Given the description of an element on the screen output the (x, y) to click on. 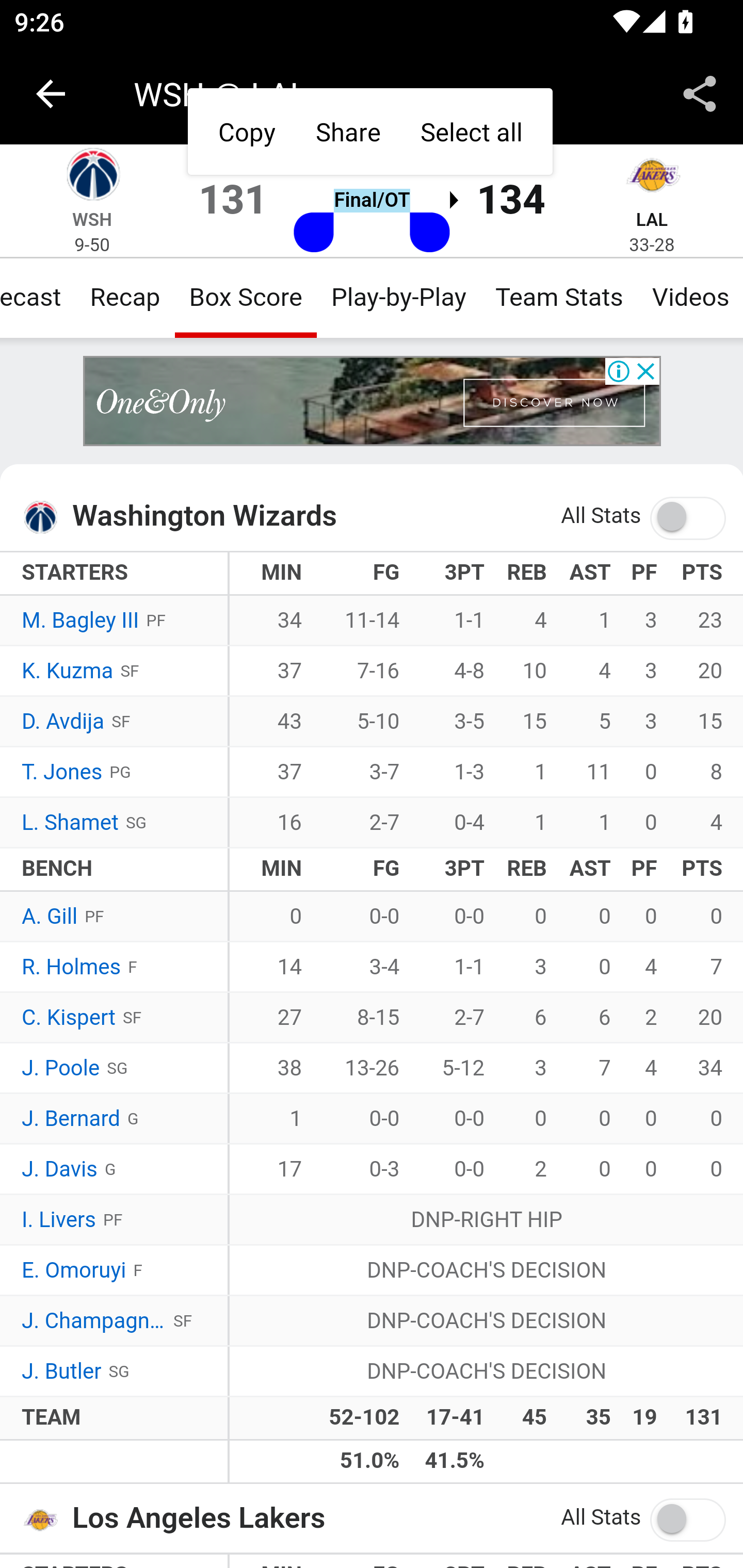
Navigate up (50, 93)
Share (699, 93)
Washington Wizards (91, 177)
Los Angeles Lakers (651, 177)
WSH (92, 219)
LAL (652, 219)
Gamecast (37, 296)
Recap (123, 296)
Box Score (245, 296)
Play-by-Play (398, 296)
Team Stats (559, 296)
Videos (689, 296)
Washington Wizards (46, 517)
M. Bagley III (81, 621)
K. Kuzma (67, 671)
D. Avdija (63, 722)
T. Jones (61, 772)
L. Shamet (69, 823)
A. Gill (50, 916)
R. Holmes (71, 968)
C. Kispert (68, 1018)
J. Poole (61, 1068)
J. Bernard (70, 1118)
J. Davis (59, 1170)
I. Livers (59, 1220)
E. Omoruyi (73, 1270)
J. Champagnie (94, 1321)
J. Butler (61, 1371)
Los Angeles Lakers (46, 1518)
